Given the description of an element on the screen output the (x, y) to click on. 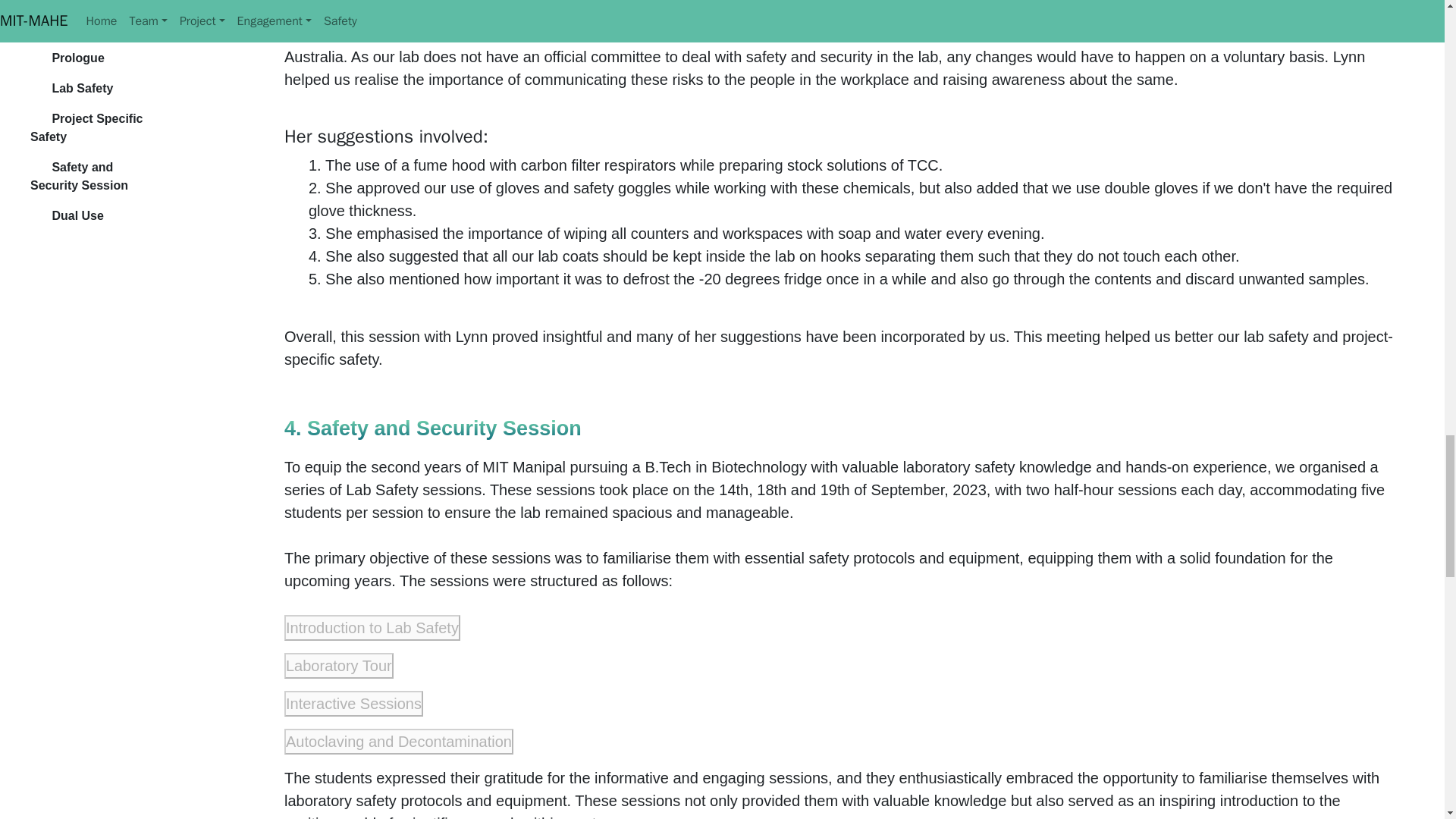
Autoclaving and Decontamination (86, 731)
Interactive Sessions (56, 697)
Introduction to Lab Safety (69, 631)
Laboratory Tour (46, 664)
